Given the description of an element on the screen output the (x, y) to click on. 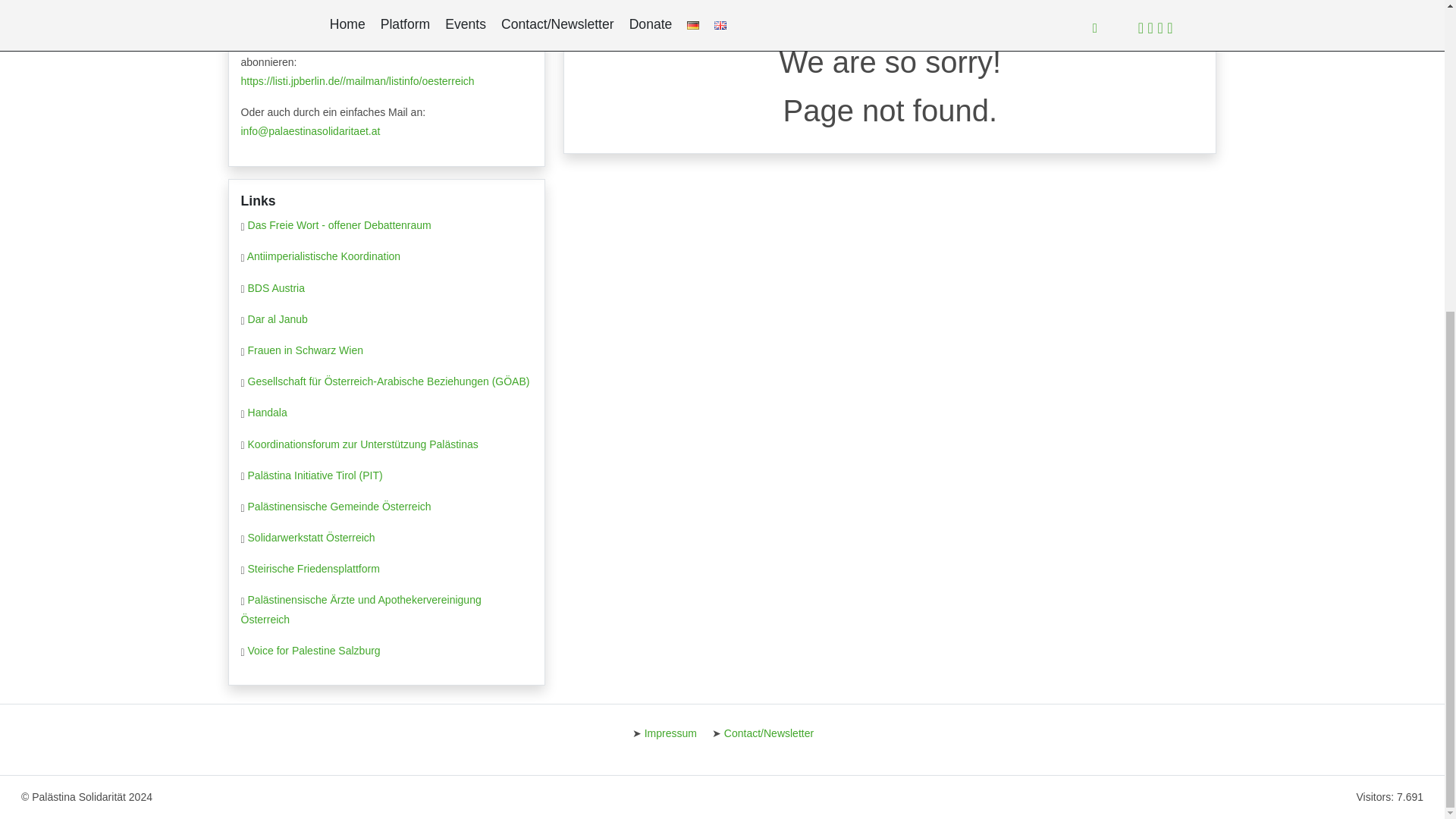
Das Freie Wort - offener Debattenraum (338, 224)
Dar al Janub (277, 318)
Handala (266, 412)
Frauen in Schwarz Wien (305, 349)
Antiimperialistische Koordination (323, 256)
BDS Austria (275, 287)
